Given the description of an element on the screen output the (x, y) to click on. 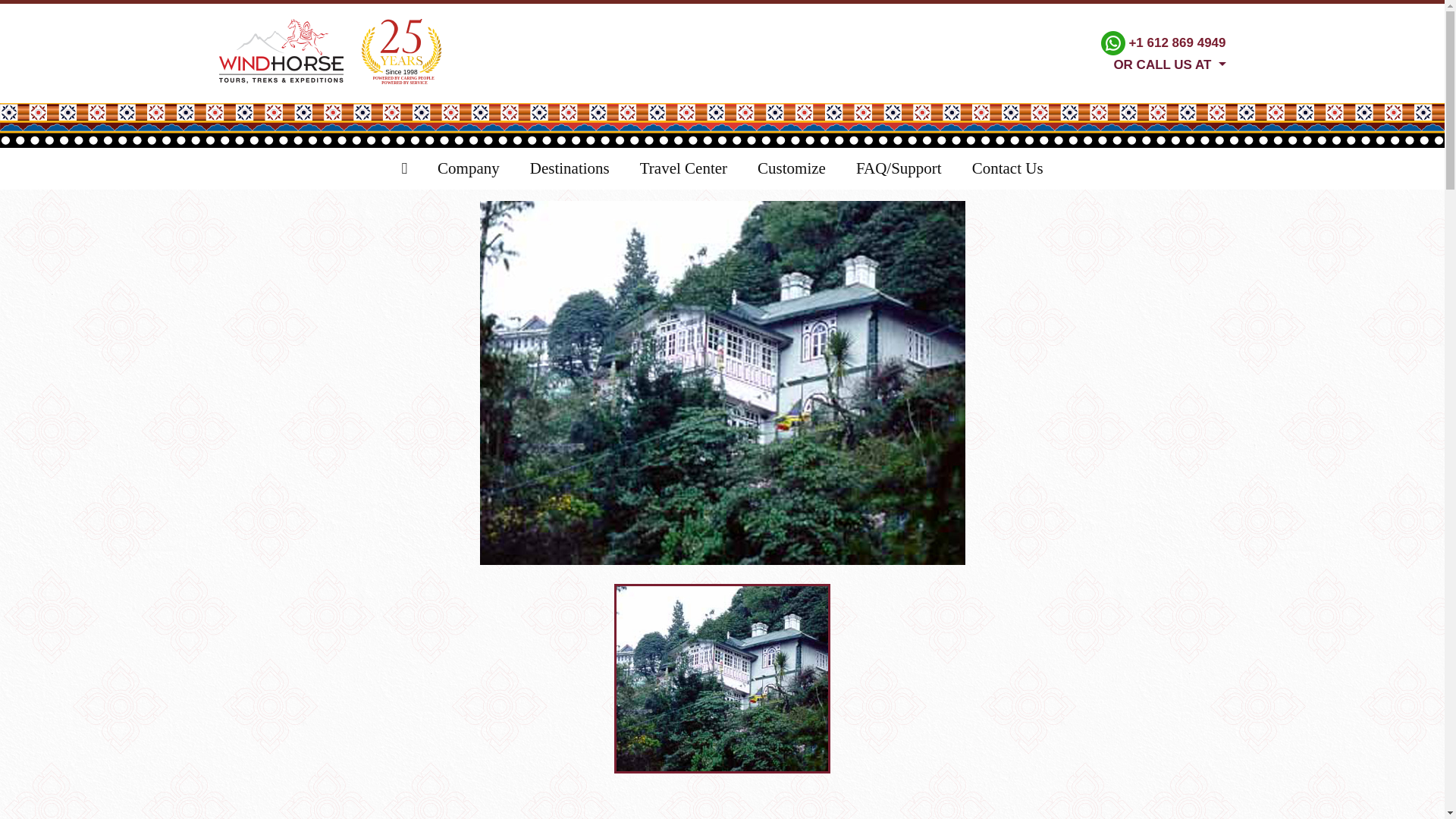
Travel Center (683, 168)
Contact Us (1007, 168)
OR CALL US AT (1162, 63)
Company (468, 168)
Customize (791, 168)
Destinations (569, 168)
Windhorse Tours 25 Years experience (401, 51)
